Given the description of an element on the screen output the (x, y) to click on. 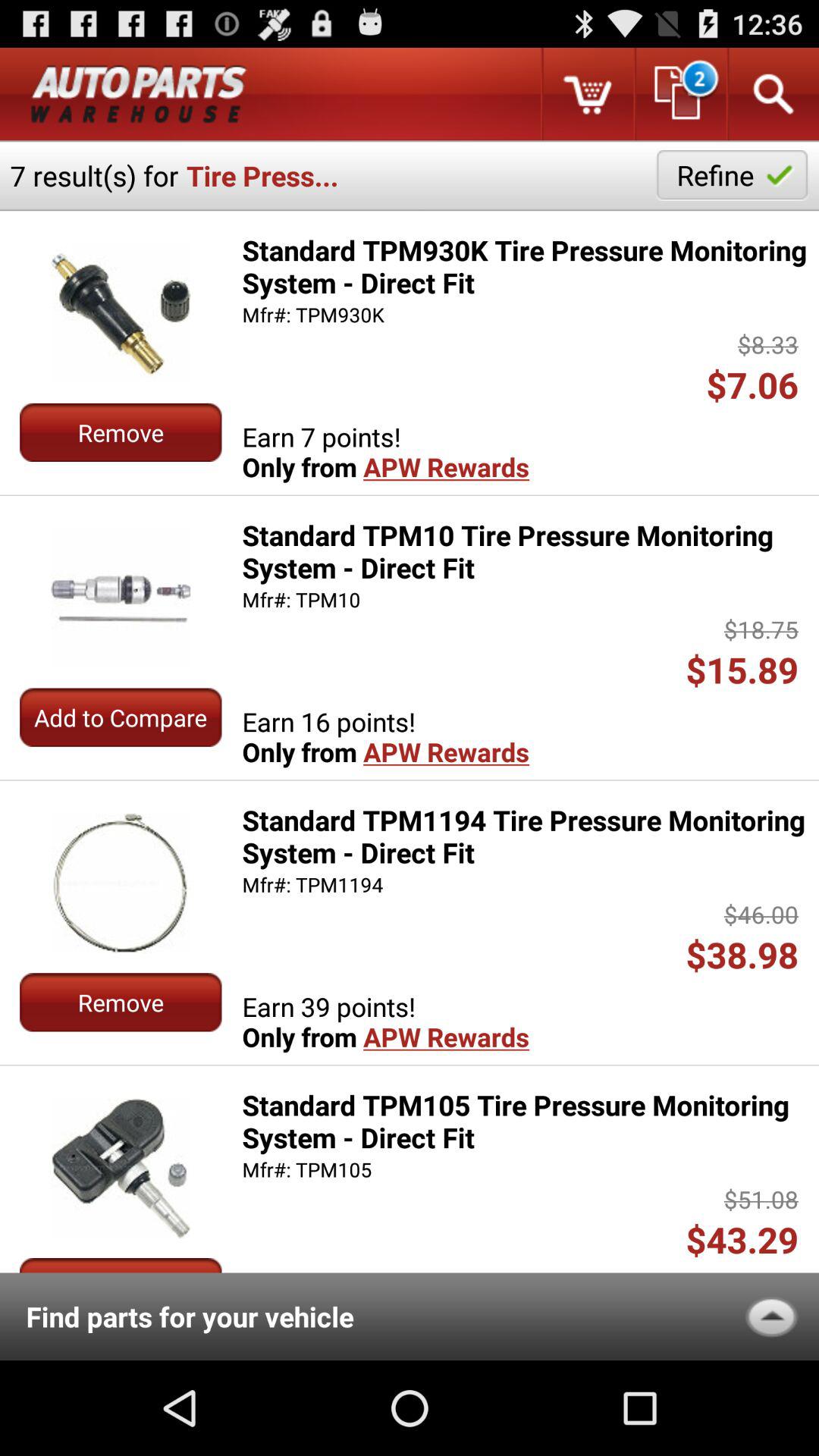
total message in button (679, 93)
